Given the description of an element on the screen output the (x, y) to click on. 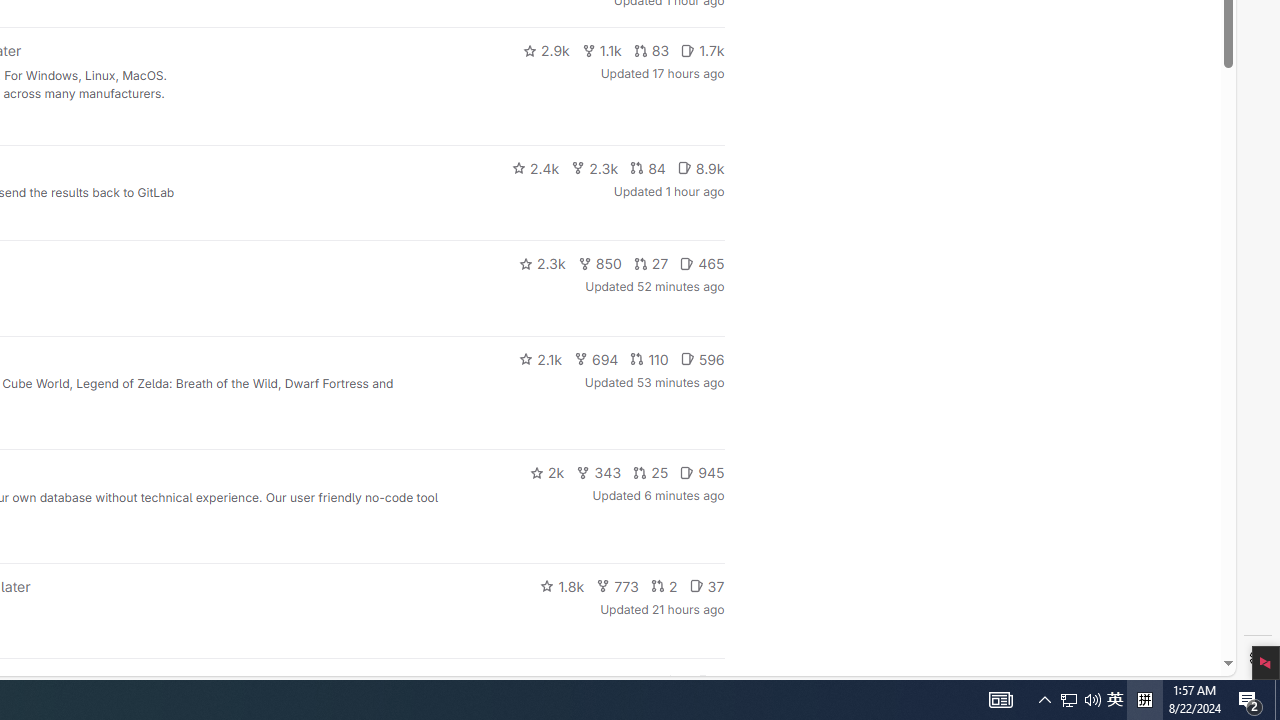
343 (599, 472)
694 (596, 358)
773 (618, 585)
945 (701, 472)
596 (701, 358)
2.3k (541, 263)
84 (647, 167)
25 (651, 472)
Class: s14 gl-mr-2 (704, 681)
143 (629, 681)
37 (706, 585)
1 (673, 681)
850 (599, 263)
2.9k (545, 50)
27 (651, 263)
